Given the description of an element on the screen output the (x, y) to click on. 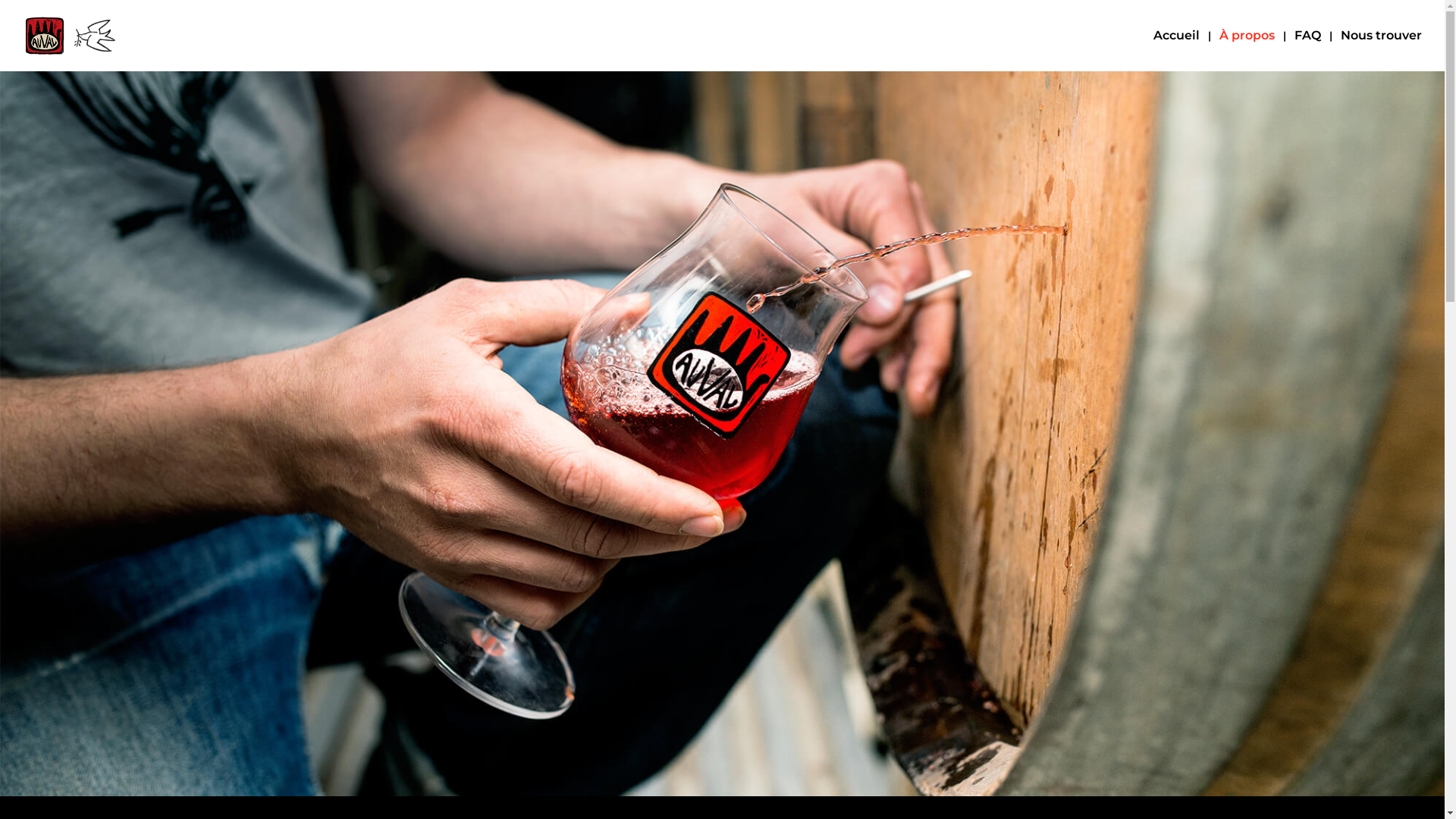
FAQ Element type: text (1307, 50)
Nous trouver Element type: text (1380, 50)
Accueil Element type: text (1176, 50)
